Given the description of an element on the screen output the (x, y) to click on. 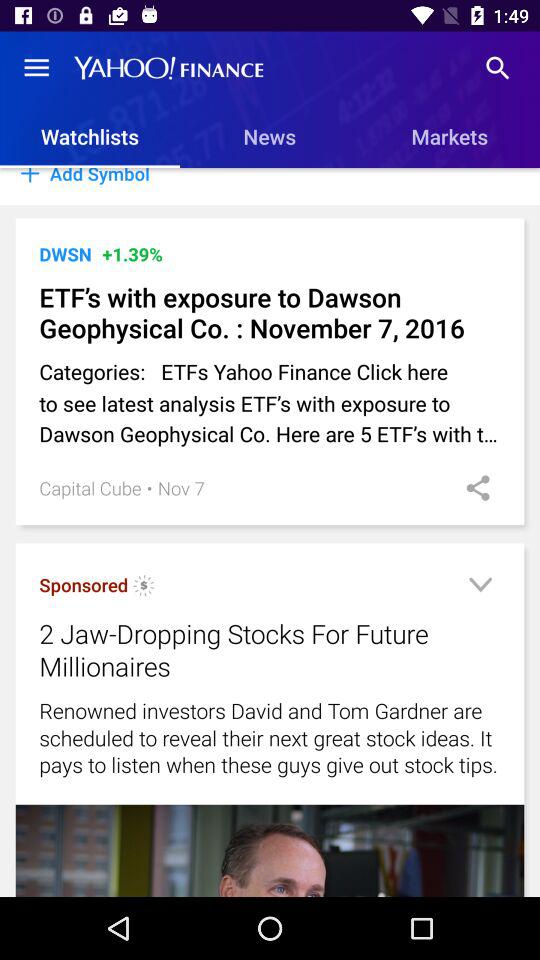
flip to dwsn (65, 253)
